Given the description of an element on the screen output the (x, y) to click on. 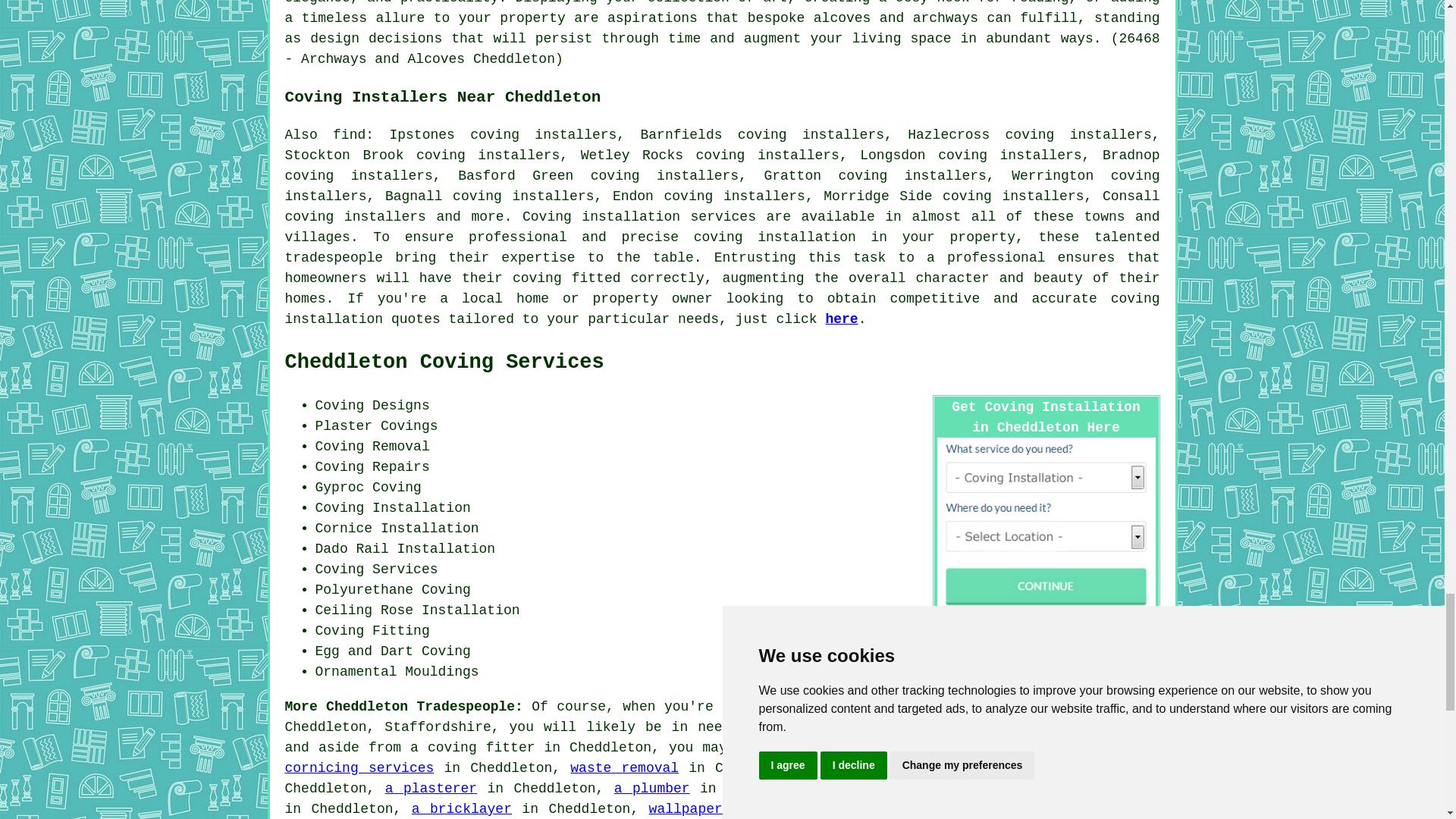
coving installation quotes (722, 308)
Coving installation services (638, 216)
